Given the description of an element on the screen output the (x, y) to click on. 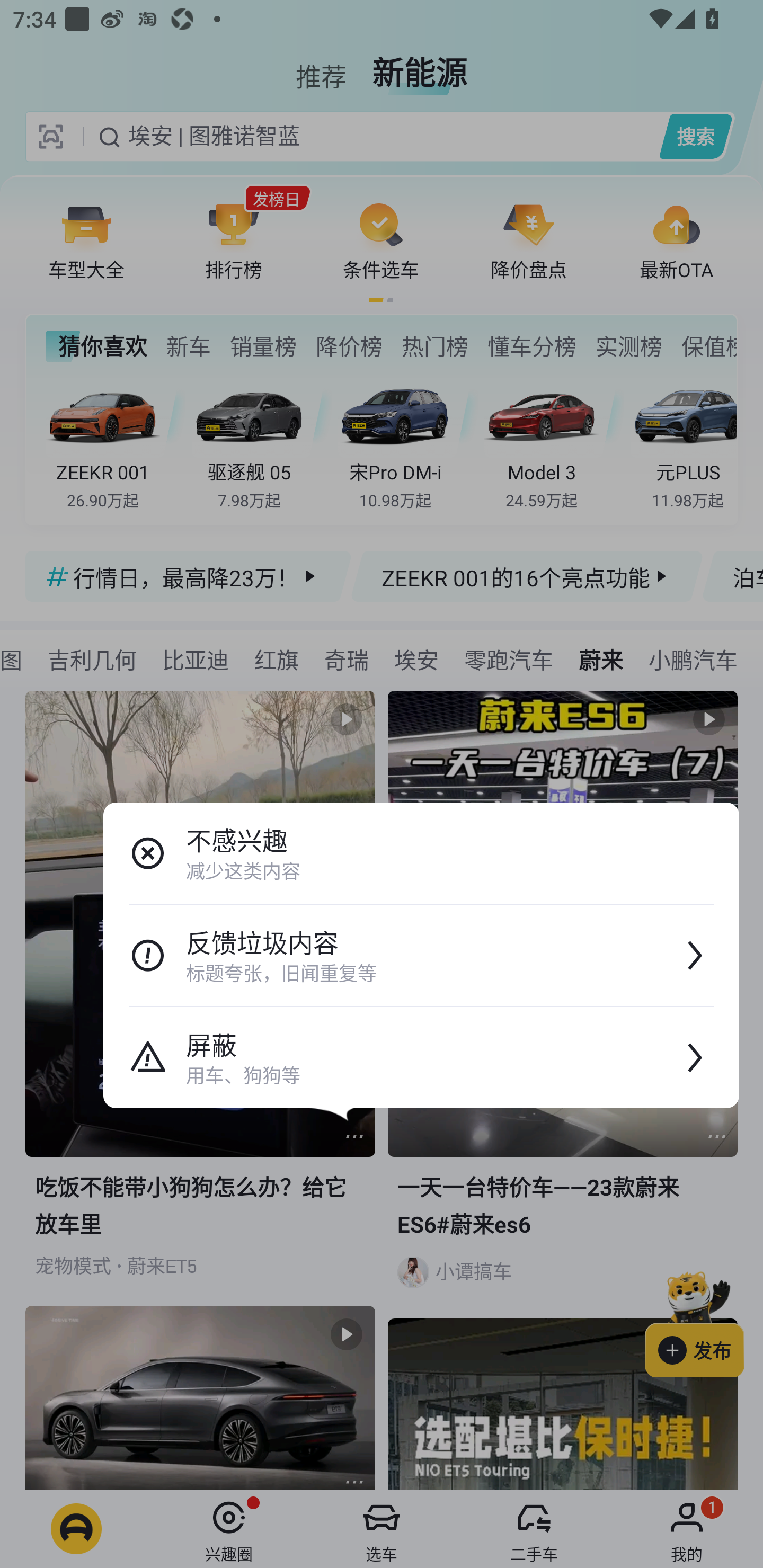
 不感兴趣 减少这类内容 (421, 852)
 反馈垃圾内容 标题夸张，旧闻重复等  (421, 955)
 屏蔽 用车、狗狗等  (421, 1057)
